Given the description of an element on the screen output the (x, y) to click on. 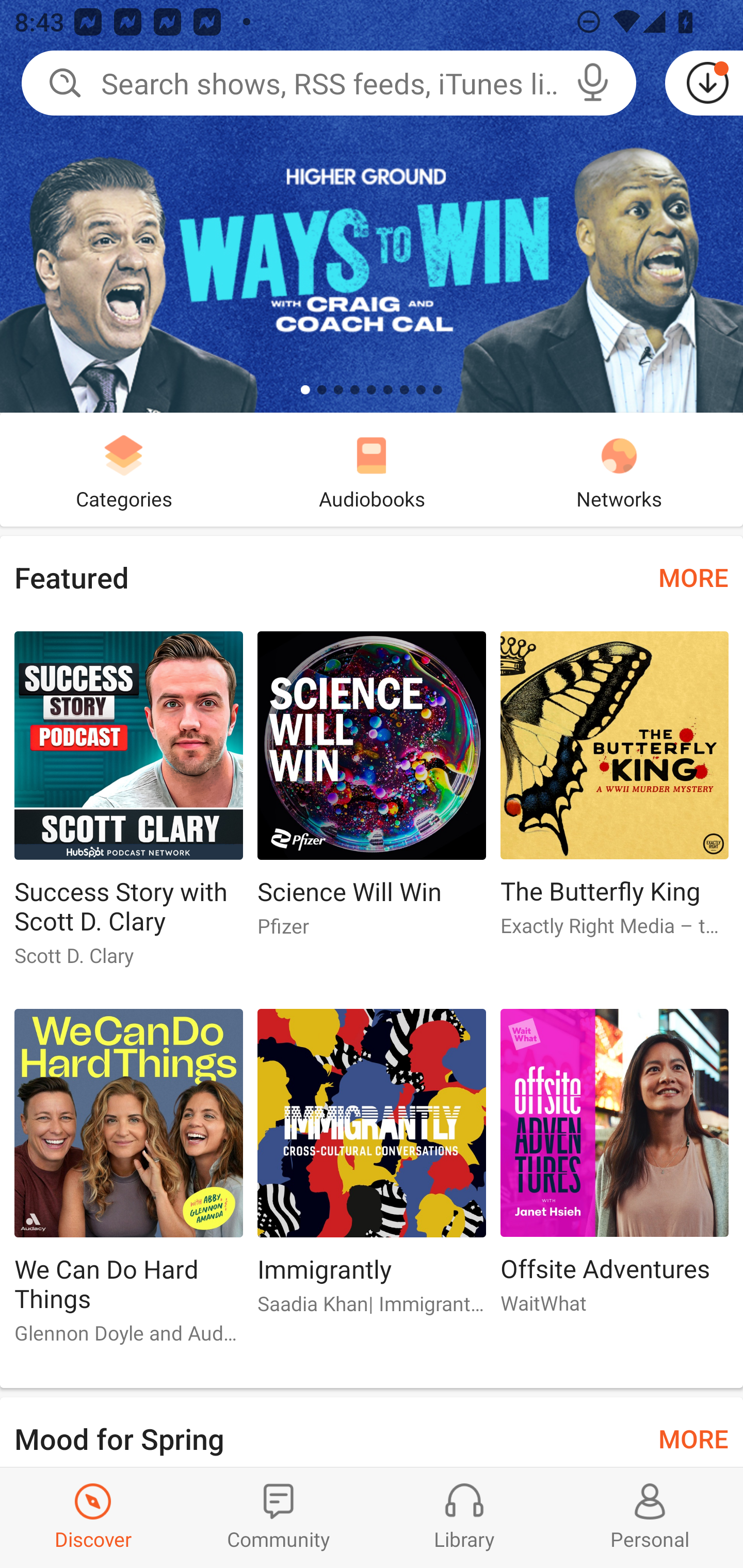
Ways To Win (371, 206)
Categories (123, 469)
Audiobooks (371, 469)
Networks (619, 469)
MORE (693, 576)
Science Will Win Science Will Win Pfizer (371, 792)
Offsite Adventures Offsite Adventures WaitWhat (614, 1169)
MORE (693, 1436)
Discover (92, 1517)
Community (278, 1517)
Library (464, 1517)
Profiles and Settings Personal (650, 1517)
